Given the description of an element on the screen output the (x, y) to click on. 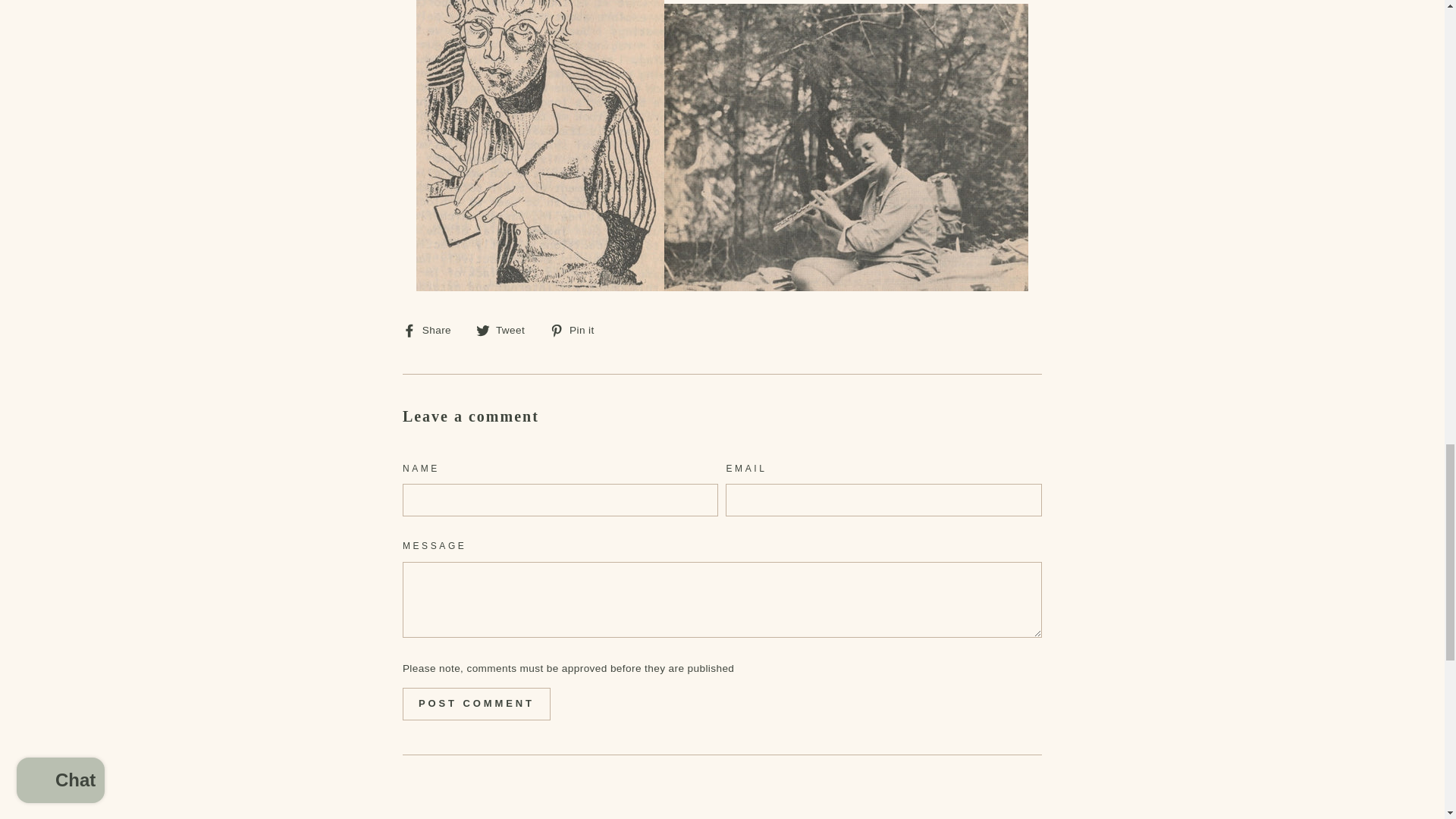
Share on Facebook (433, 329)
Pin on Pinterest (577, 329)
Tweet on Twitter (505, 329)
